Given the description of an element on the screen output the (x, y) to click on. 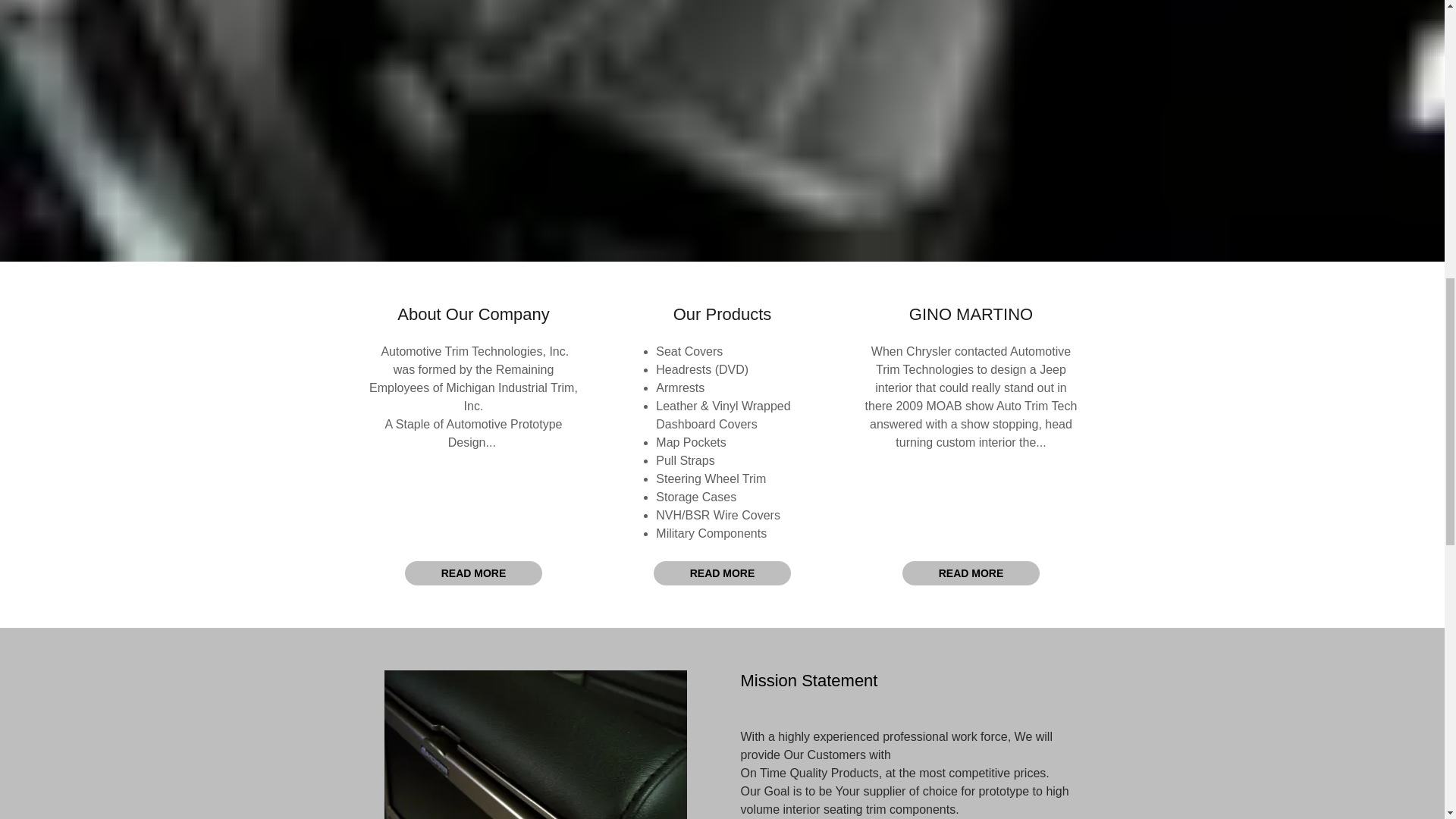
READ MORE (971, 573)
READ MORE (722, 573)
READ MORE (473, 573)
